Given the description of an element on the screen output the (x, y) to click on. 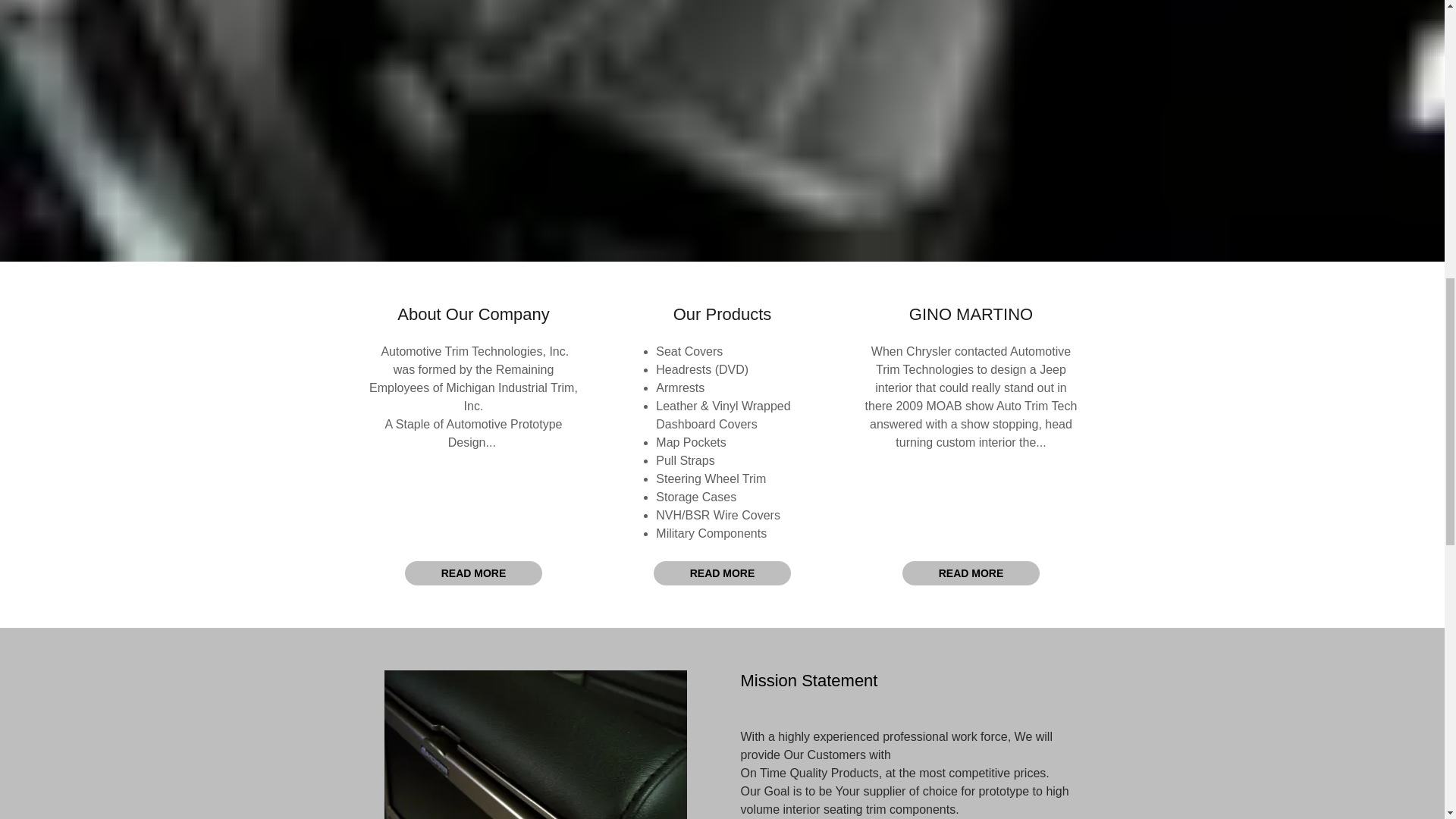
READ MORE (971, 573)
READ MORE (722, 573)
READ MORE (473, 573)
